Given the description of an element on the screen output the (x, y) to click on. 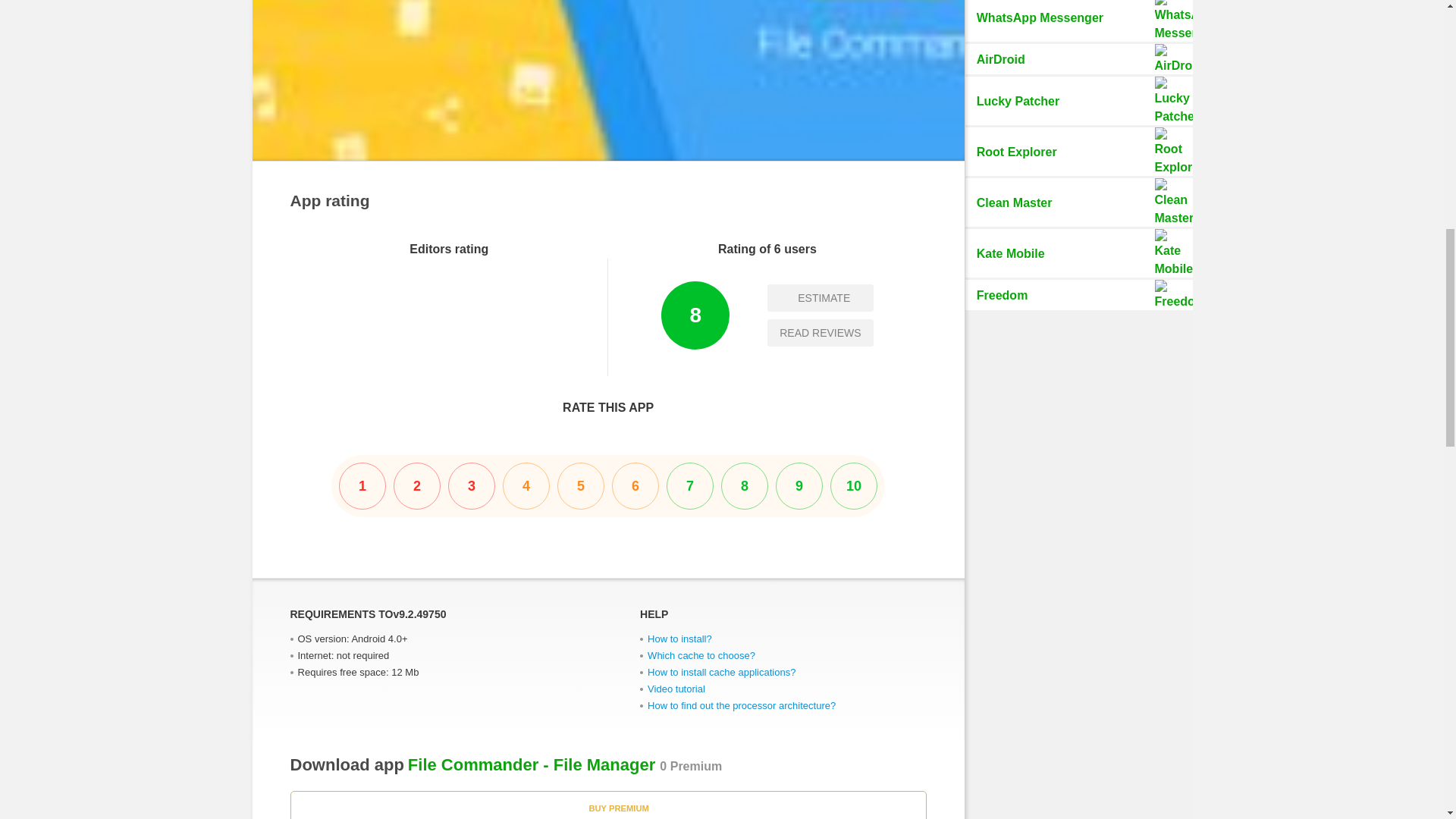
How to install? (607, 485)
Kate Mobile (679, 638)
Lucky Patcher (1078, 253)
Clean Master (1078, 100)
Which cache to choose? (1078, 202)
AirDroid (701, 655)
READ REVIEWS (1078, 59)
ESTIMATE (819, 332)
How to install cache applications? (819, 298)
